Given the description of an element on the screen output the (x, y) to click on. 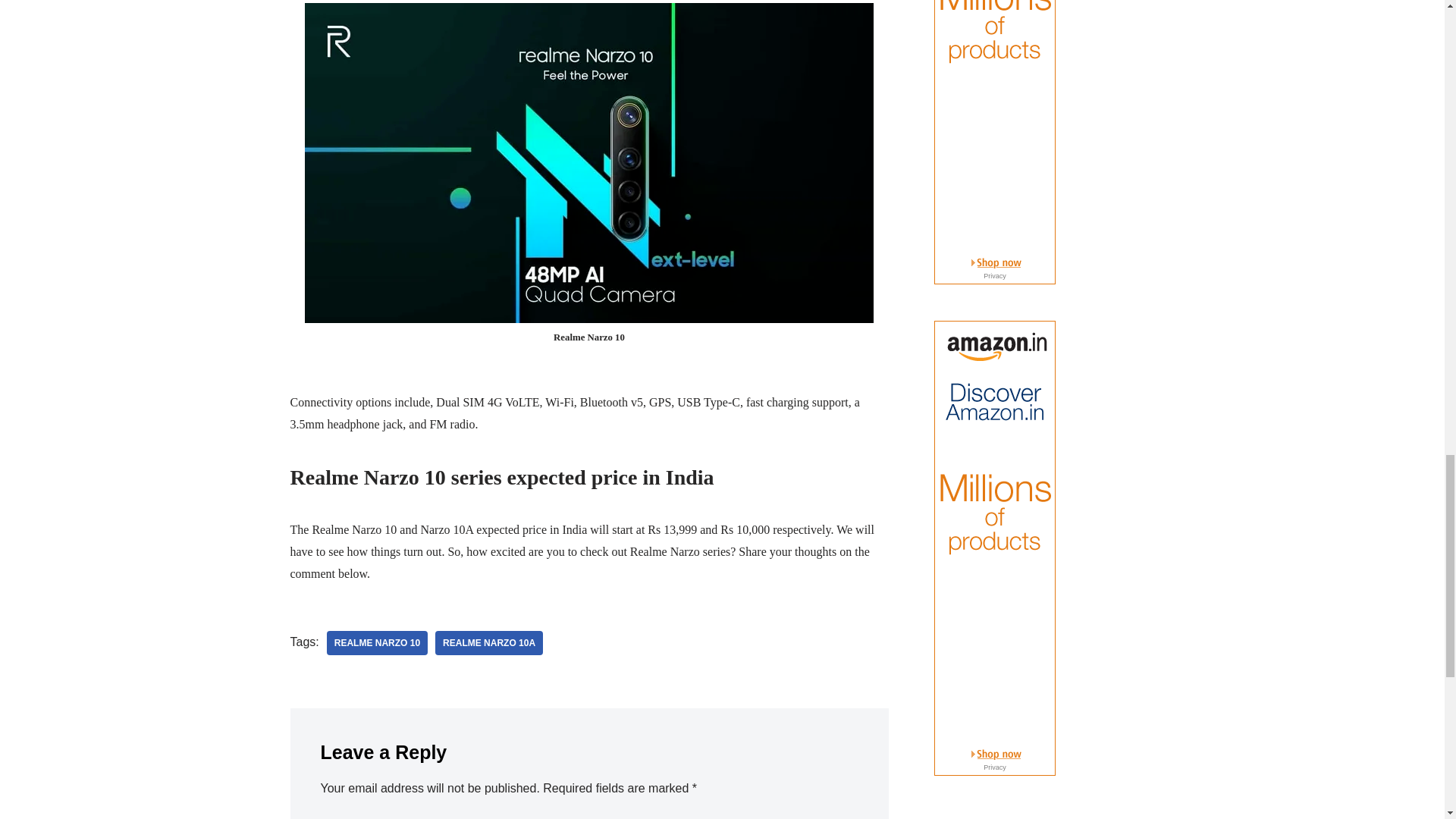
Realme Narzo 10 (377, 642)
Realme Narzo 10A (489, 642)
